Given the description of an element on the screen output the (x, y) to click on. 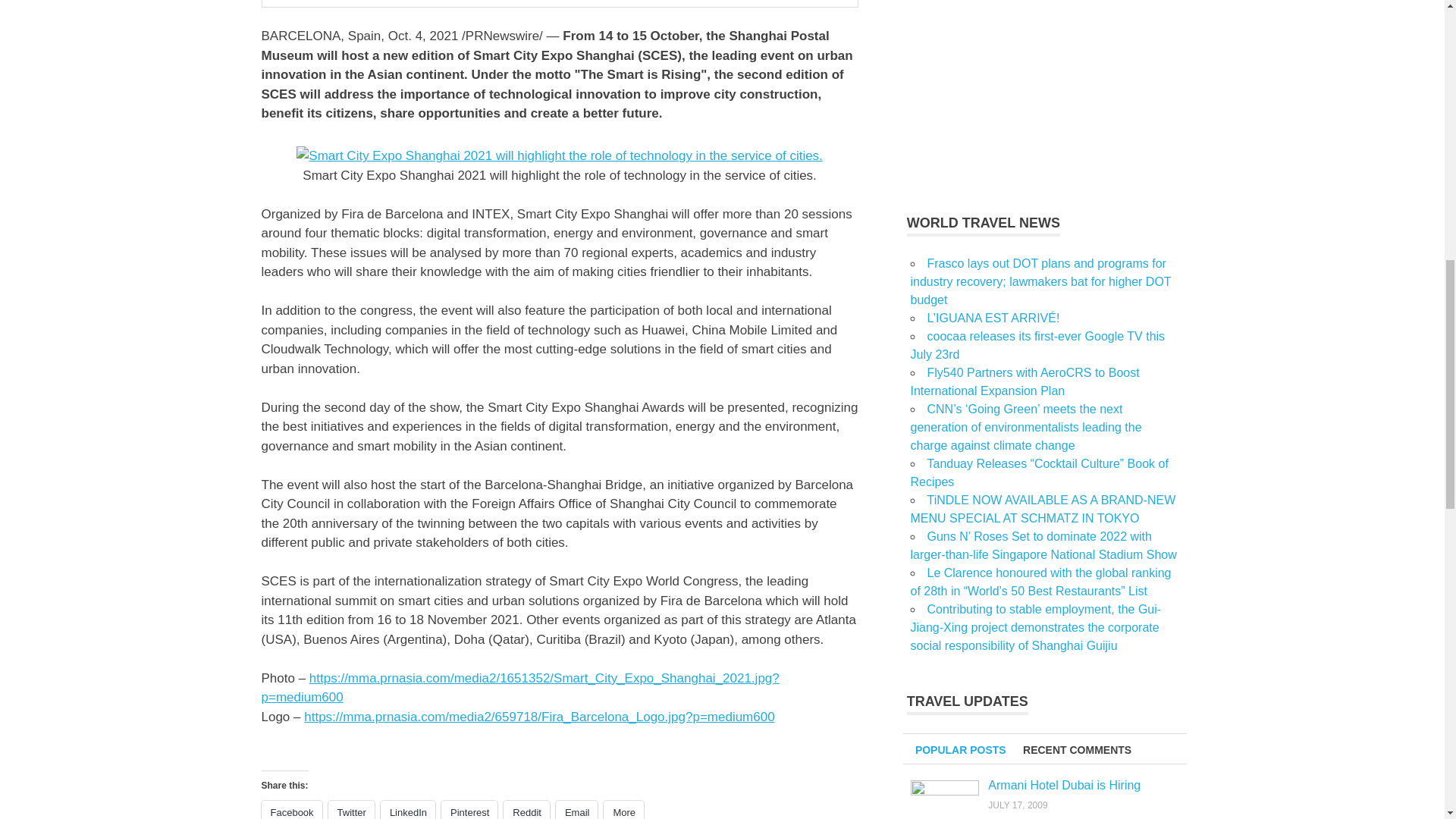
Armani Hotel Dubai is Hiring (1064, 784)
Email (577, 809)
Facebook (290, 809)
Pinterest (469, 809)
LinkedIn (407, 809)
coocaa releases its first-ever Google TV this July 23rd (1037, 345)
Click to email a link to a friend (577, 809)
Click to share on Pinterest (469, 809)
Click to share on Reddit (526, 809)
More (623, 809)
